Given the description of an element on the screen output the (x, y) to click on. 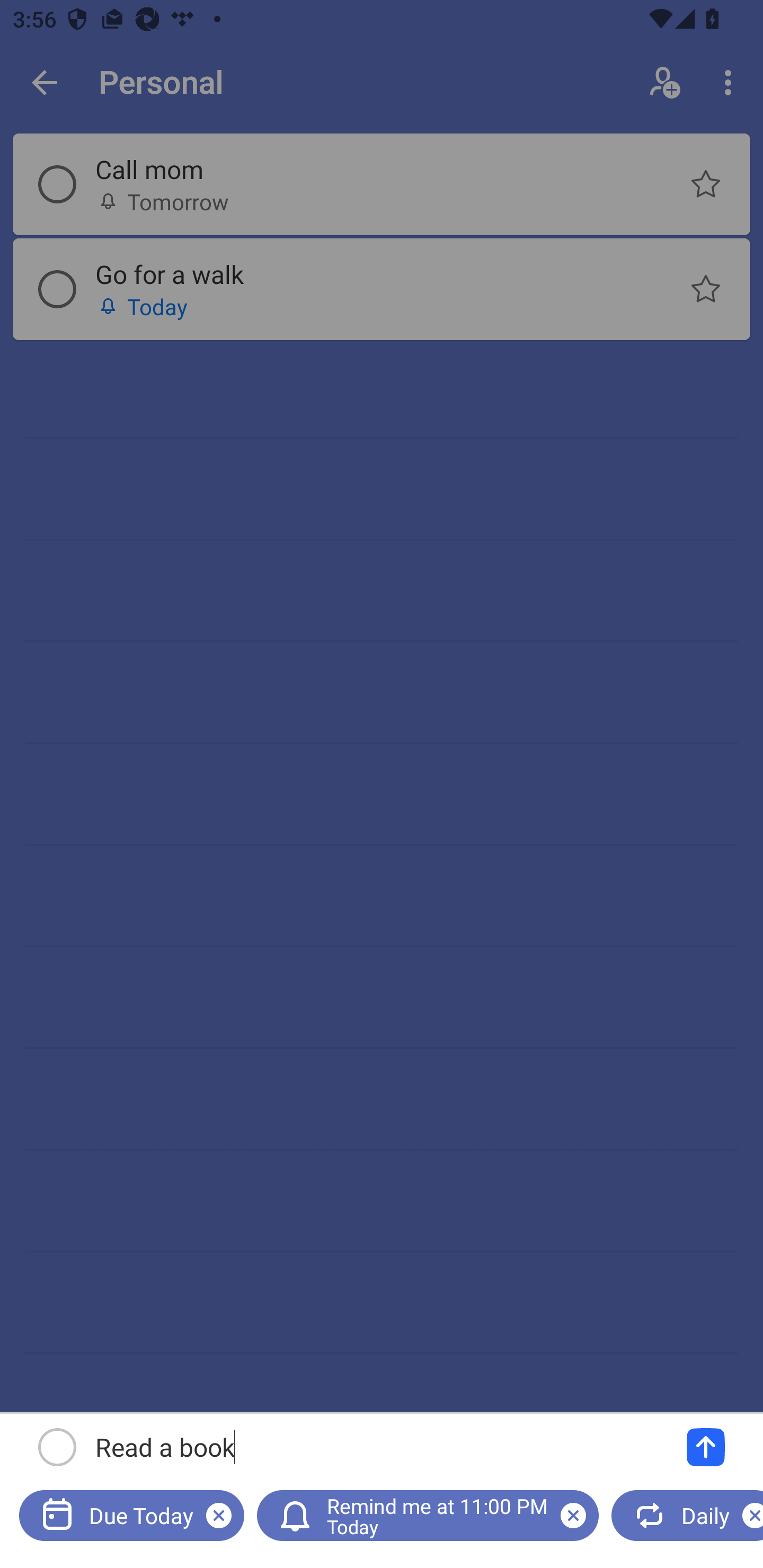
Add a task (705, 1446)
